Given the description of an element on the screen output the (x, y) to click on. 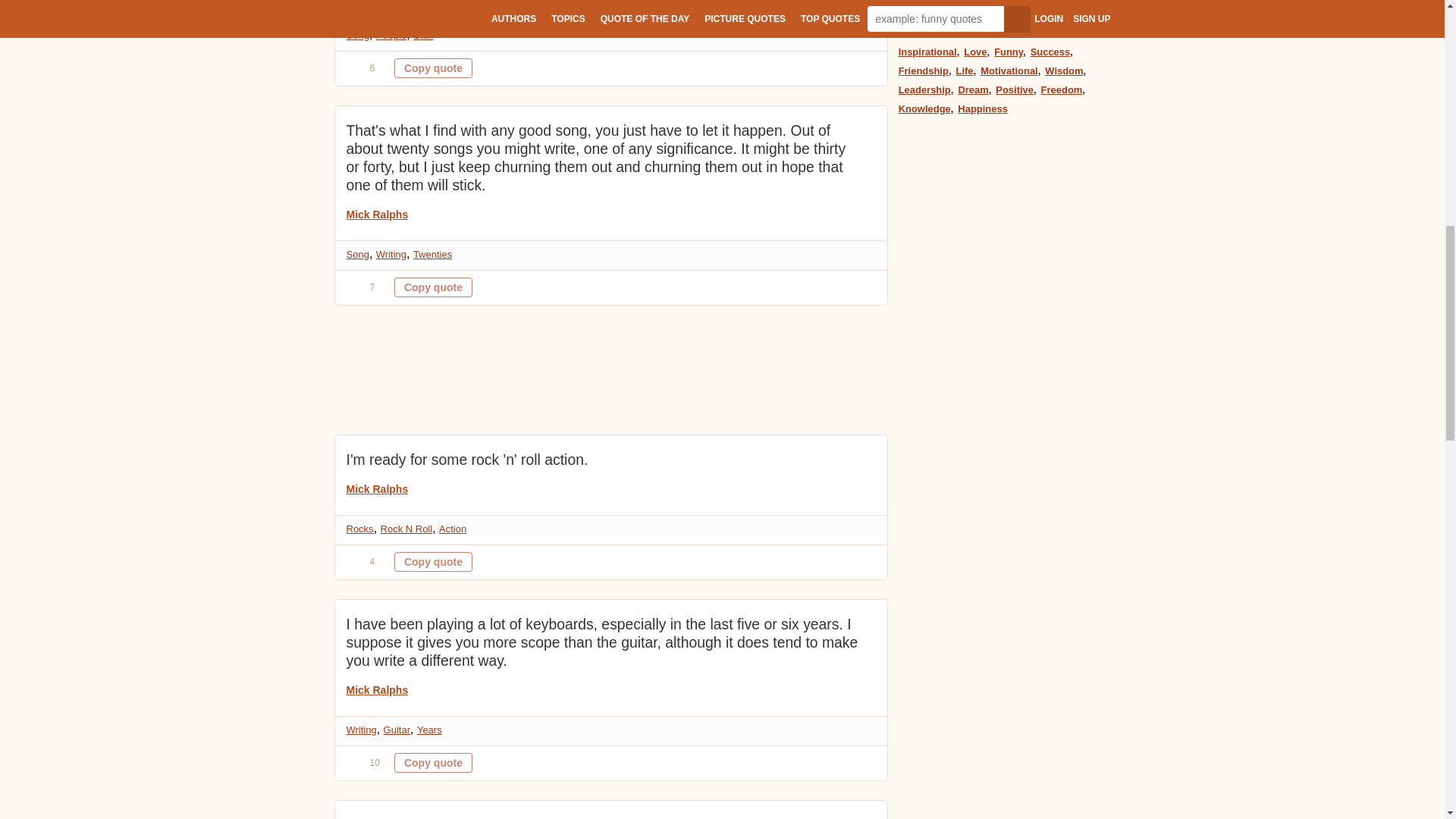
Quote is copied (432, 561)
Quote is copied (432, 287)
Quote is copied (432, 67)
Quote is copied (432, 762)
